Given the description of an element on the screen output the (x, y) to click on. 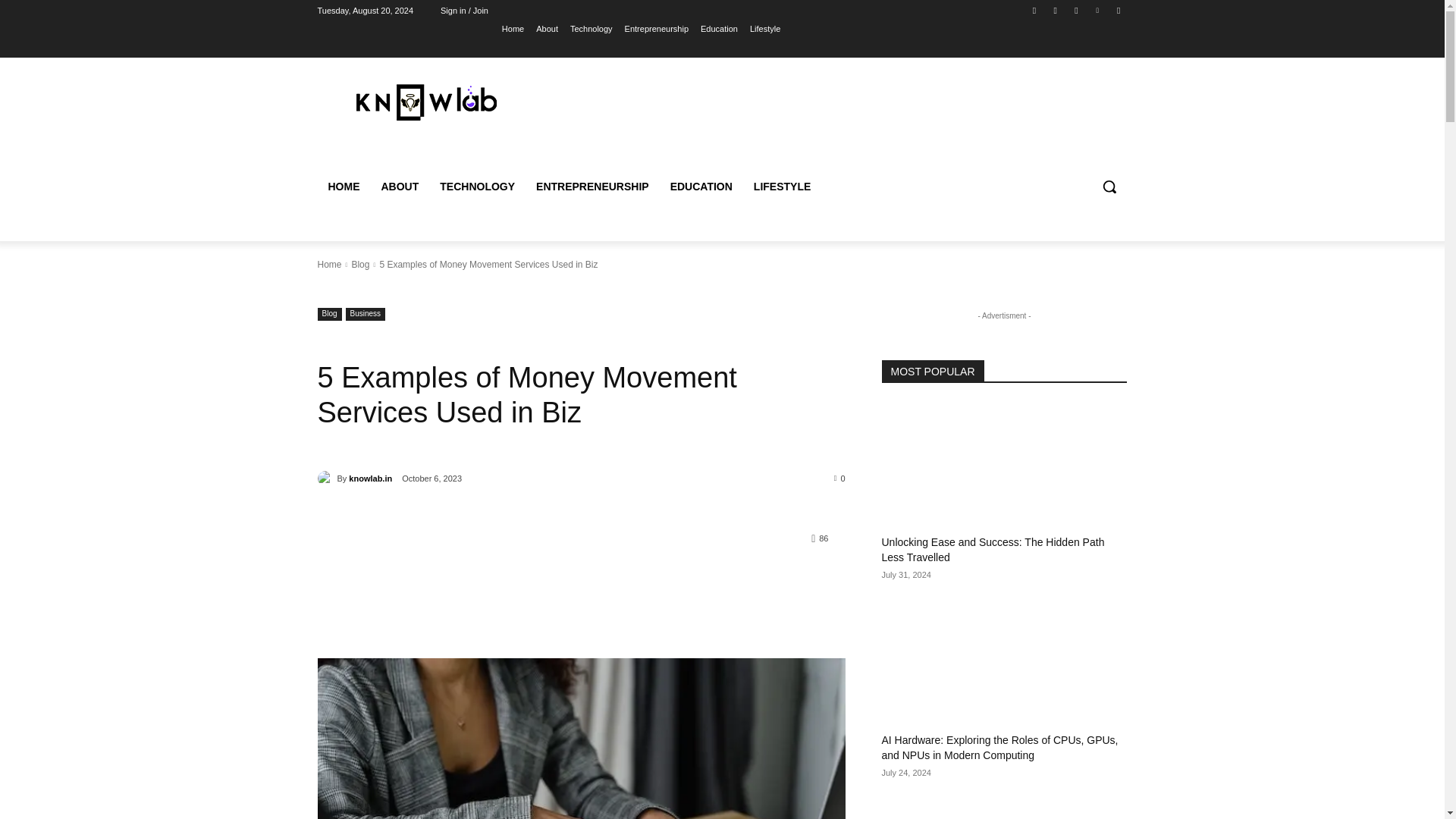
Home (513, 28)
Entrepreneurship (656, 28)
ABOUT (399, 186)
Lifestyle (764, 28)
Twitter (1075, 9)
LIFESTYLE (781, 186)
Home (328, 264)
View all posts in Blog (359, 264)
5-Examples-of-Money-Movement-Services-Used-in-Biz-2 (580, 738)
About (546, 28)
